Given the description of an element on the screen output the (x, y) to click on. 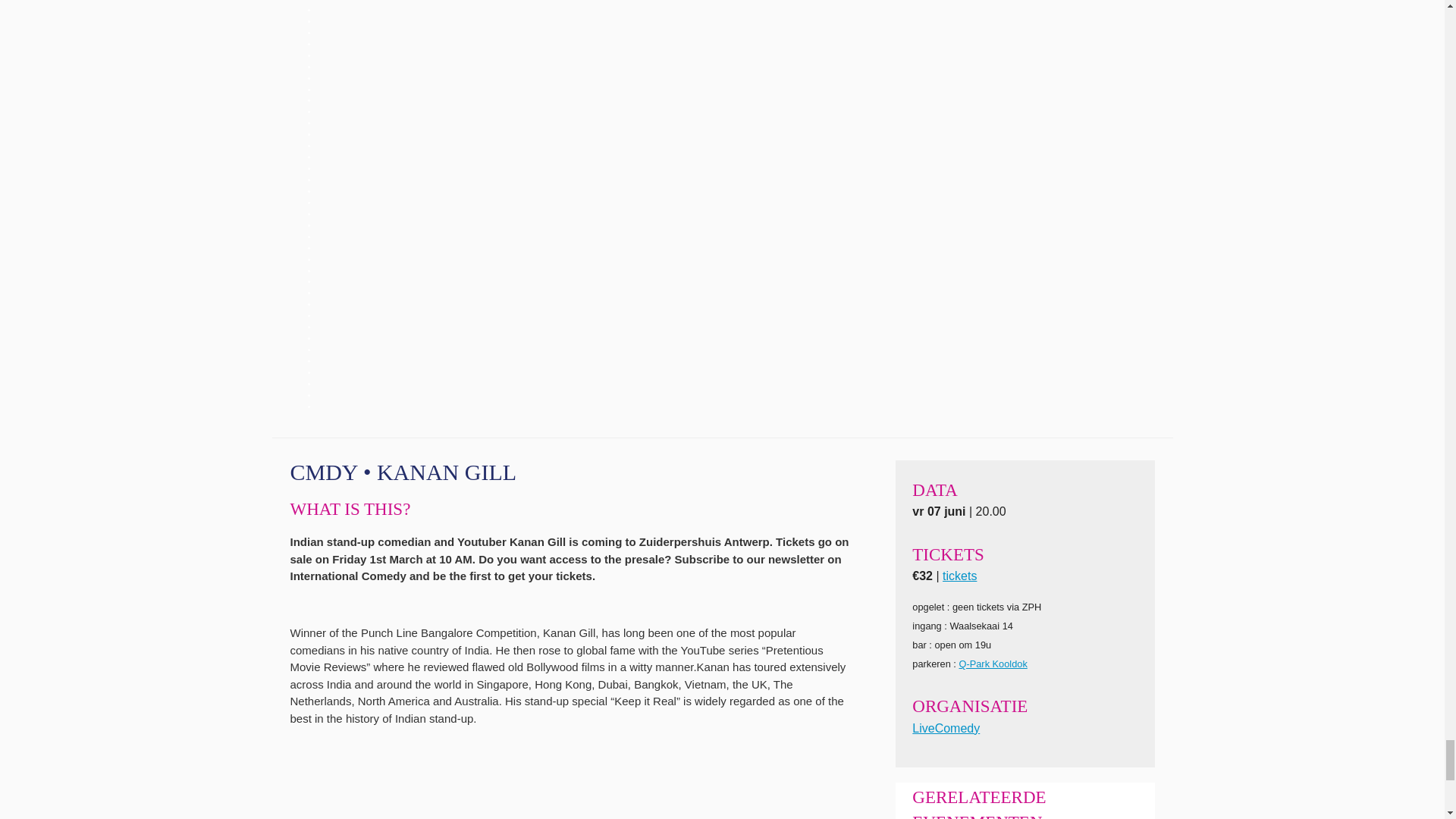
LiveComedy (945, 727)
YouTube video player (501, 790)
Q-Park Kooldok (992, 663)
tickets (959, 575)
